Given the description of an element on the screen output the (x, y) to click on. 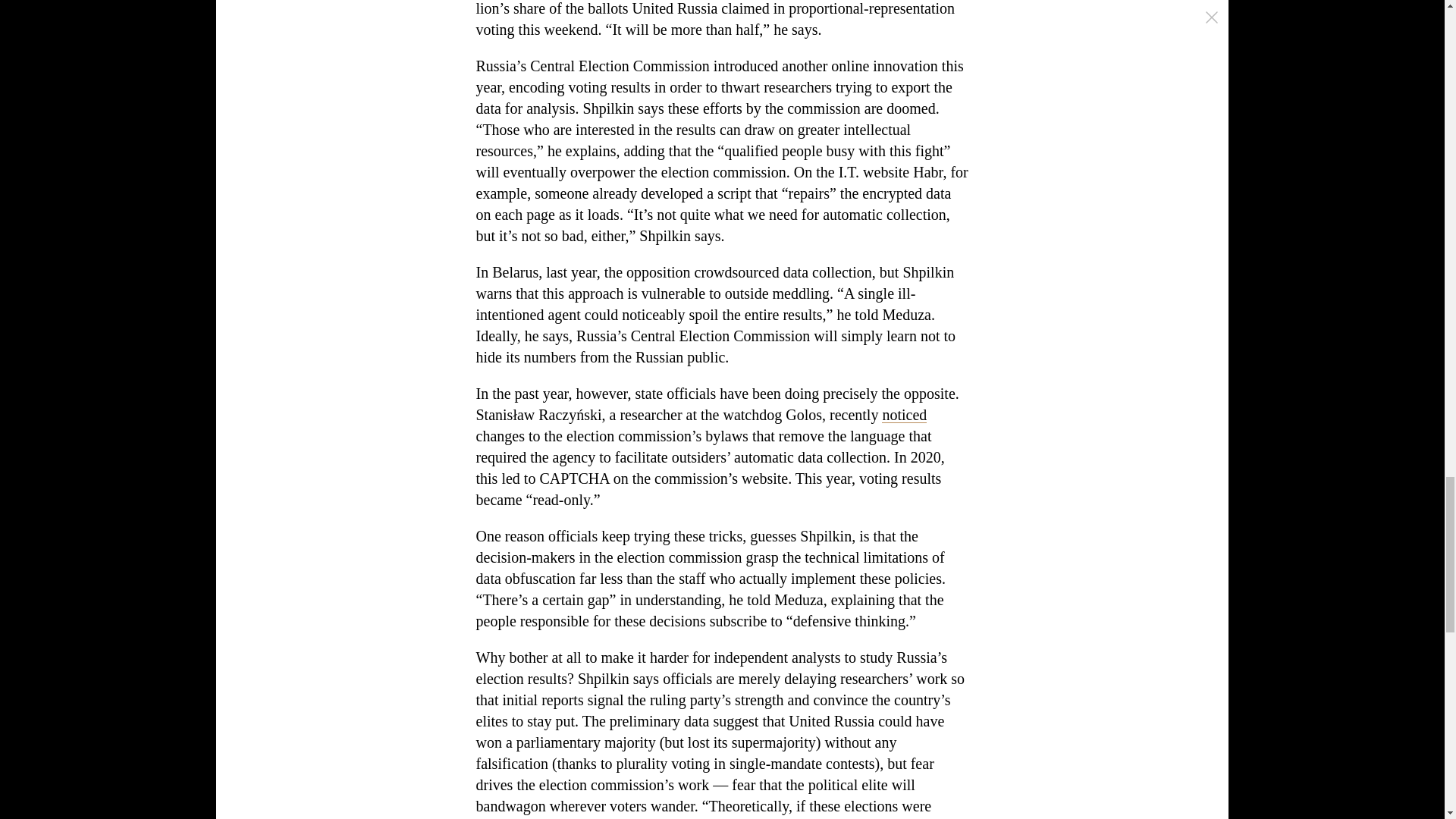
noticed (904, 414)
